Given the description of an element on the screen output the (x, y) to click on. 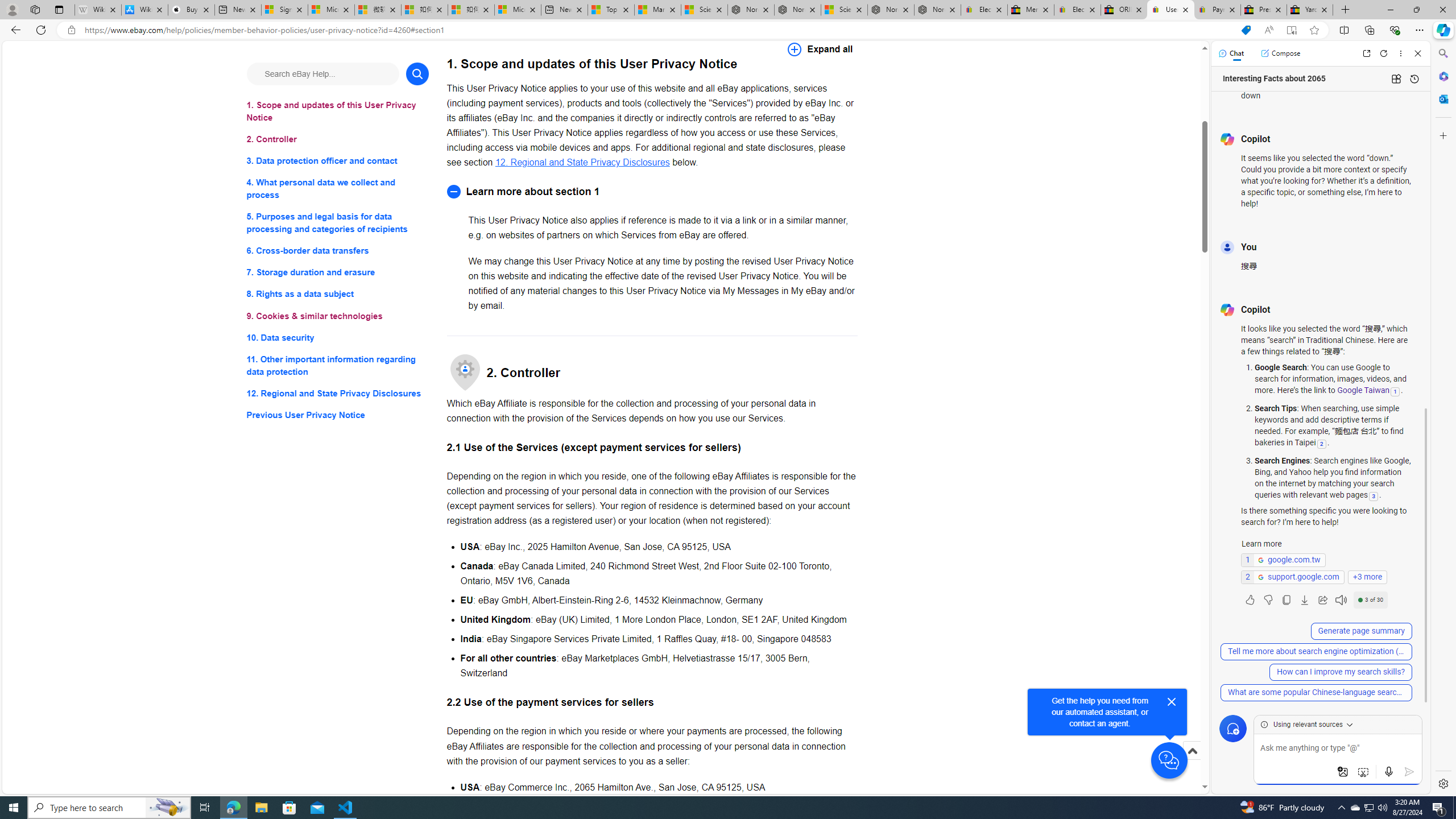
Compose (1280, 52)
Microsoft account | Account Checkup (517, 9)
9. Cookies & similar technologies (337, 315)
6. Cross-border data transfers (337, 250)
